Given the description of an element on the screen output the (x, y) to click on. 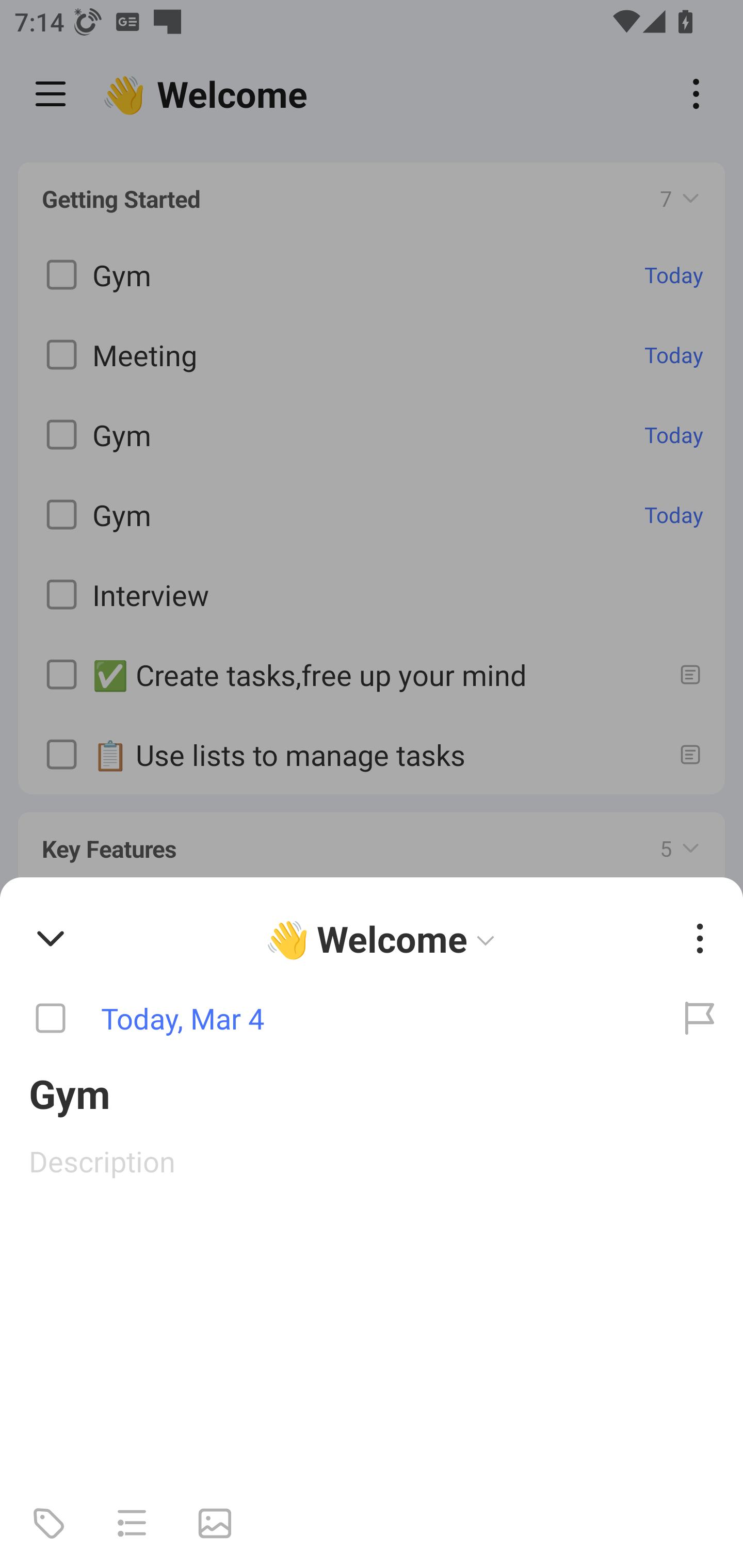
👋 Welcome (384, 938)
Today, Mar 4  (328, 1019)
Gym (371, 1092)
Description (371, 1160)
